Given the description of an element on the screen output the (x, y) to click on. 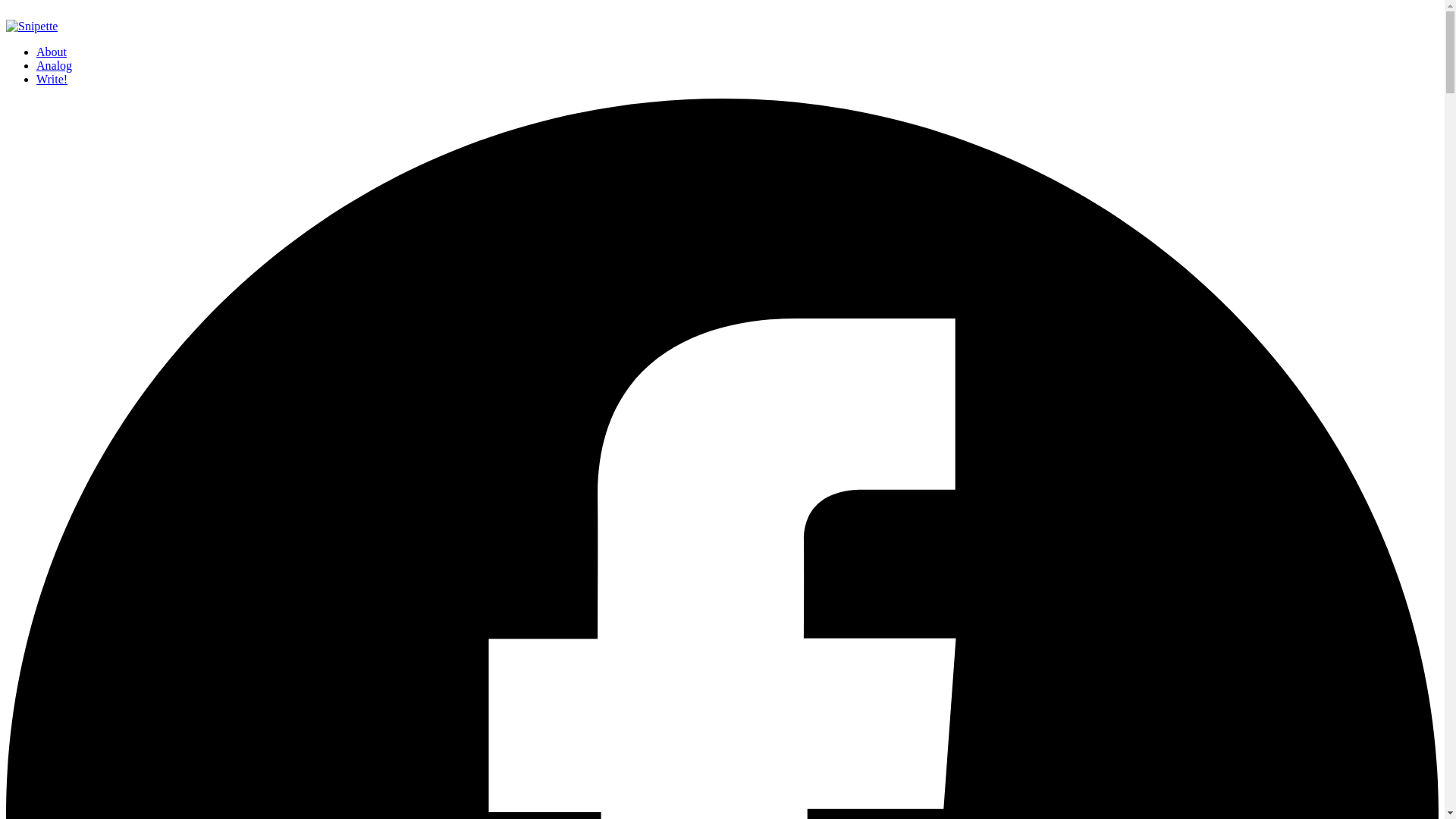
Write! (51, 78)
Analog (53, 65)
About (51, 51)
